Given the description of an element on the screen output the (x, y) to click on. 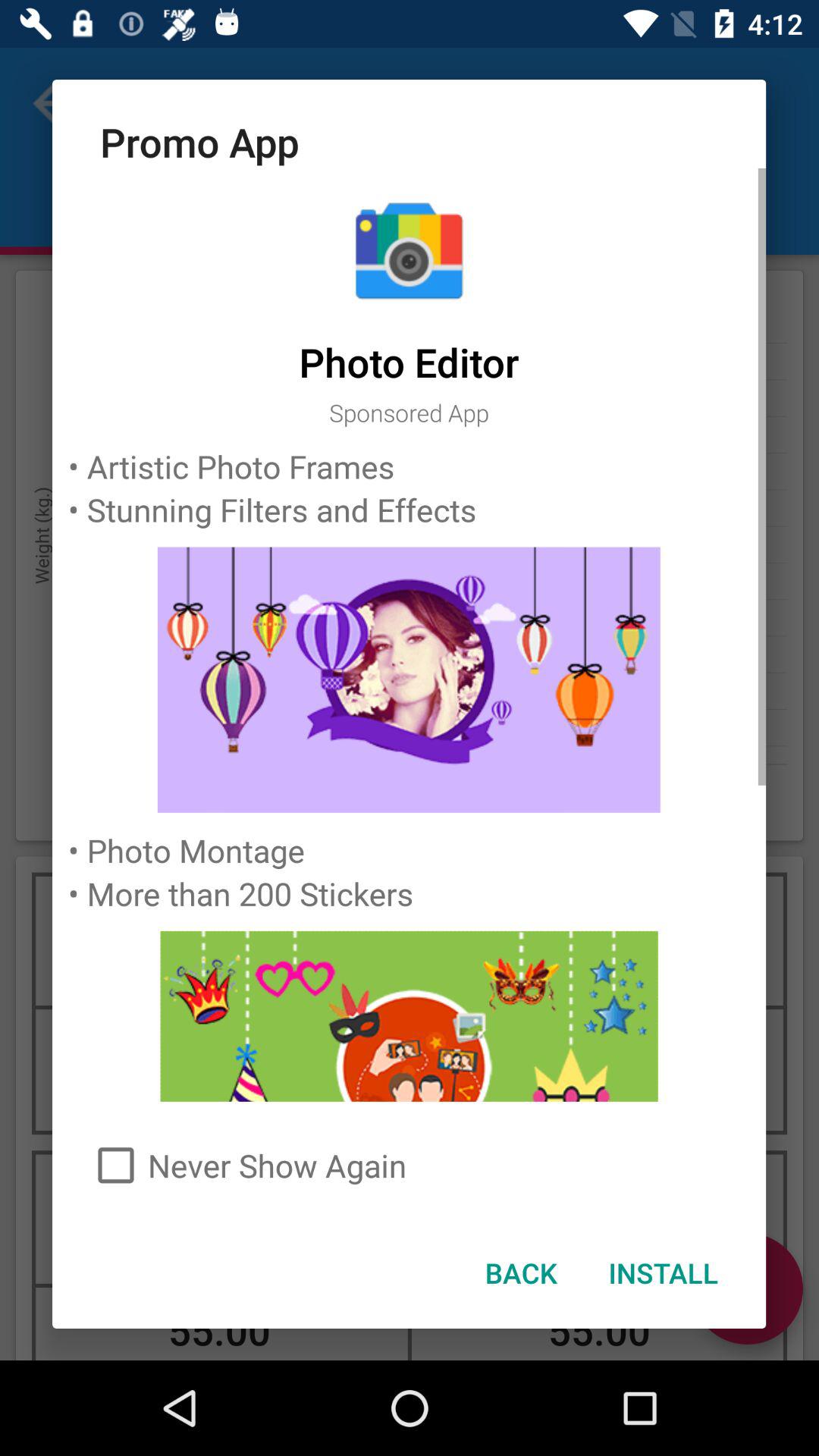
turn on the icon above back icon (409, 1165)
